Given the description of an element on the screen output the (x, y) to click on. 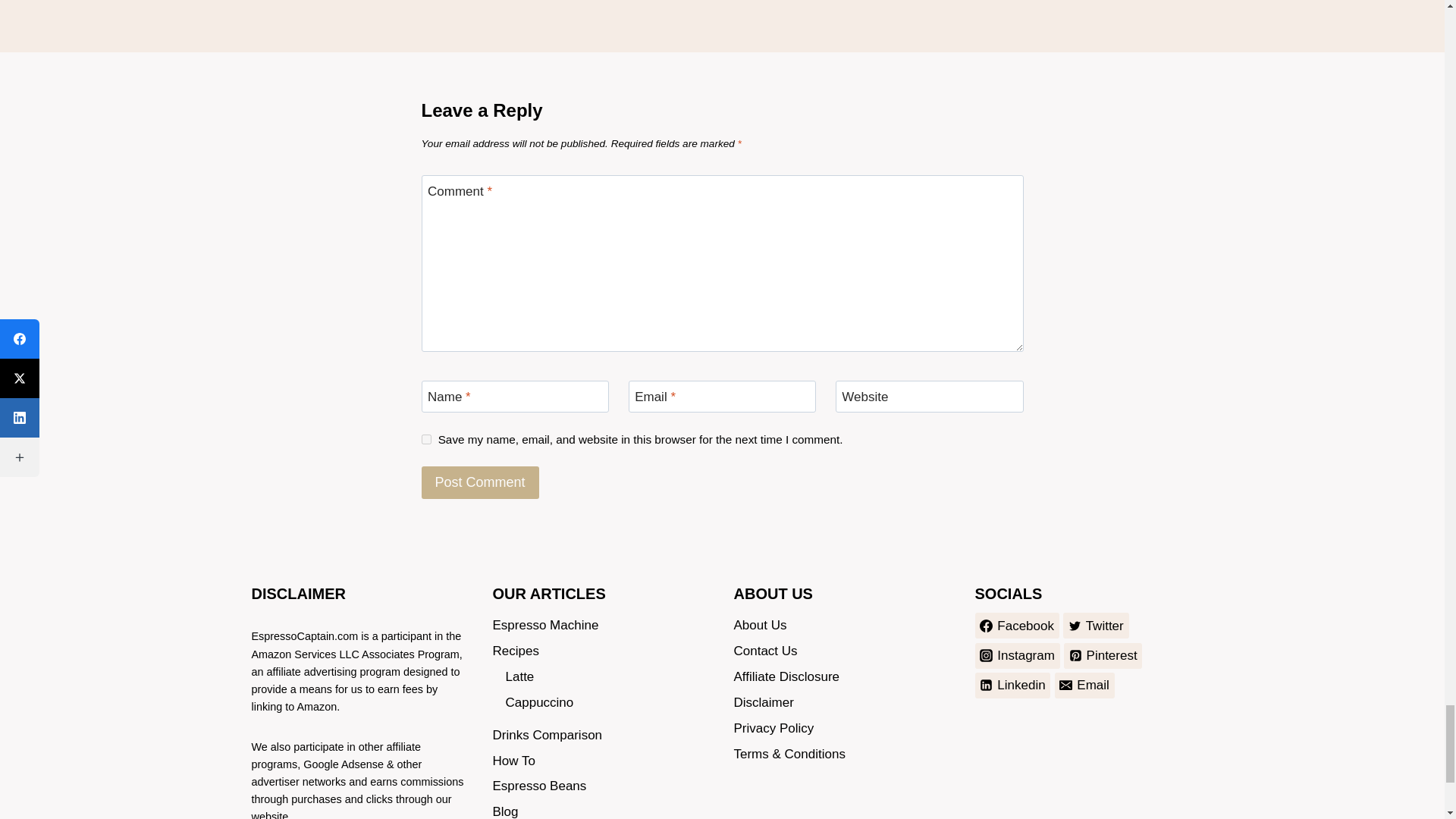
yes (426, 439)
Post Comment (480, 482)
